Given the description of an element on the screen output the (x, y) to click on. 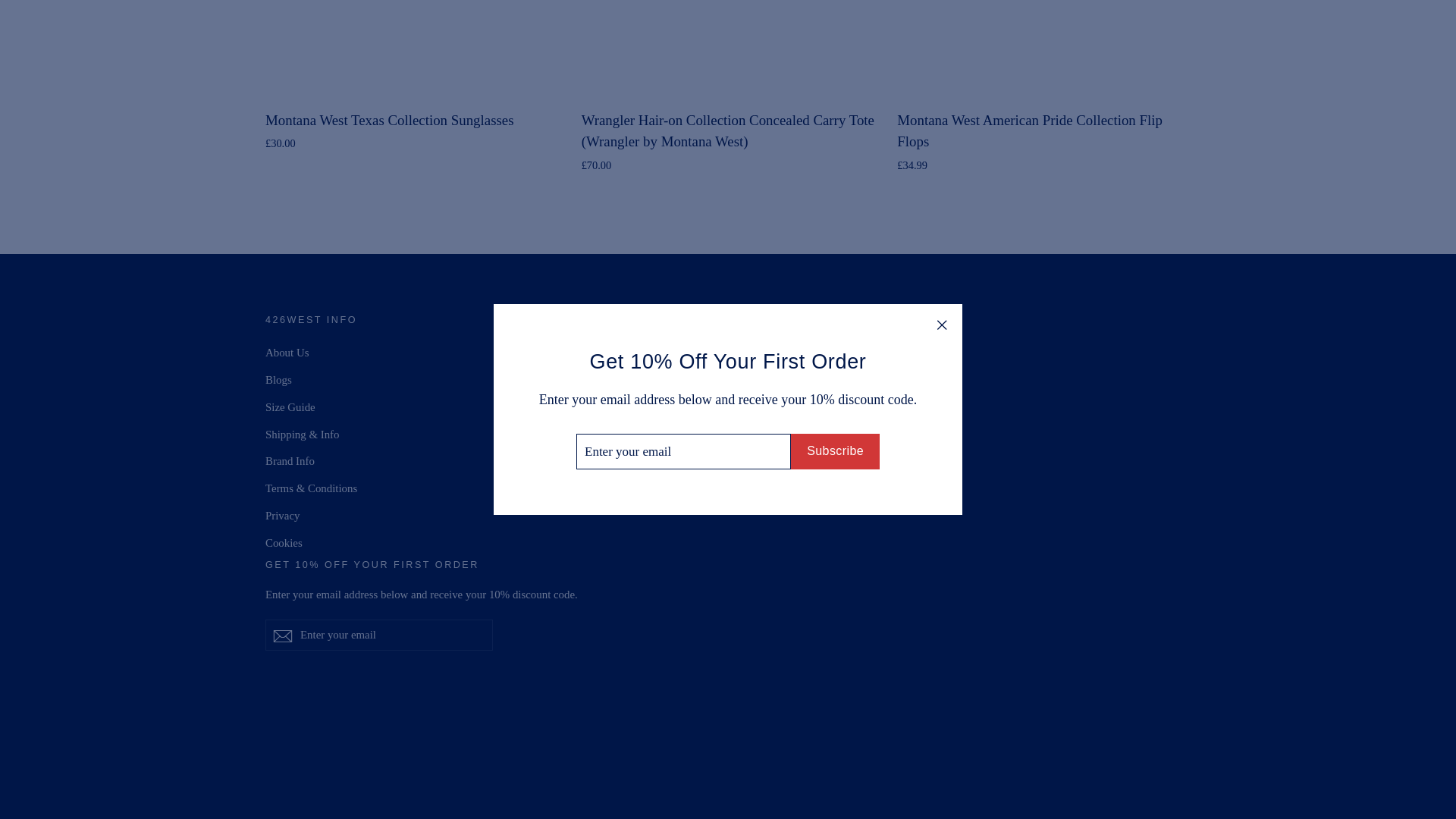
icon-email (282, 636)
